Given the description of an element on the screen output the (x, y) to click on. 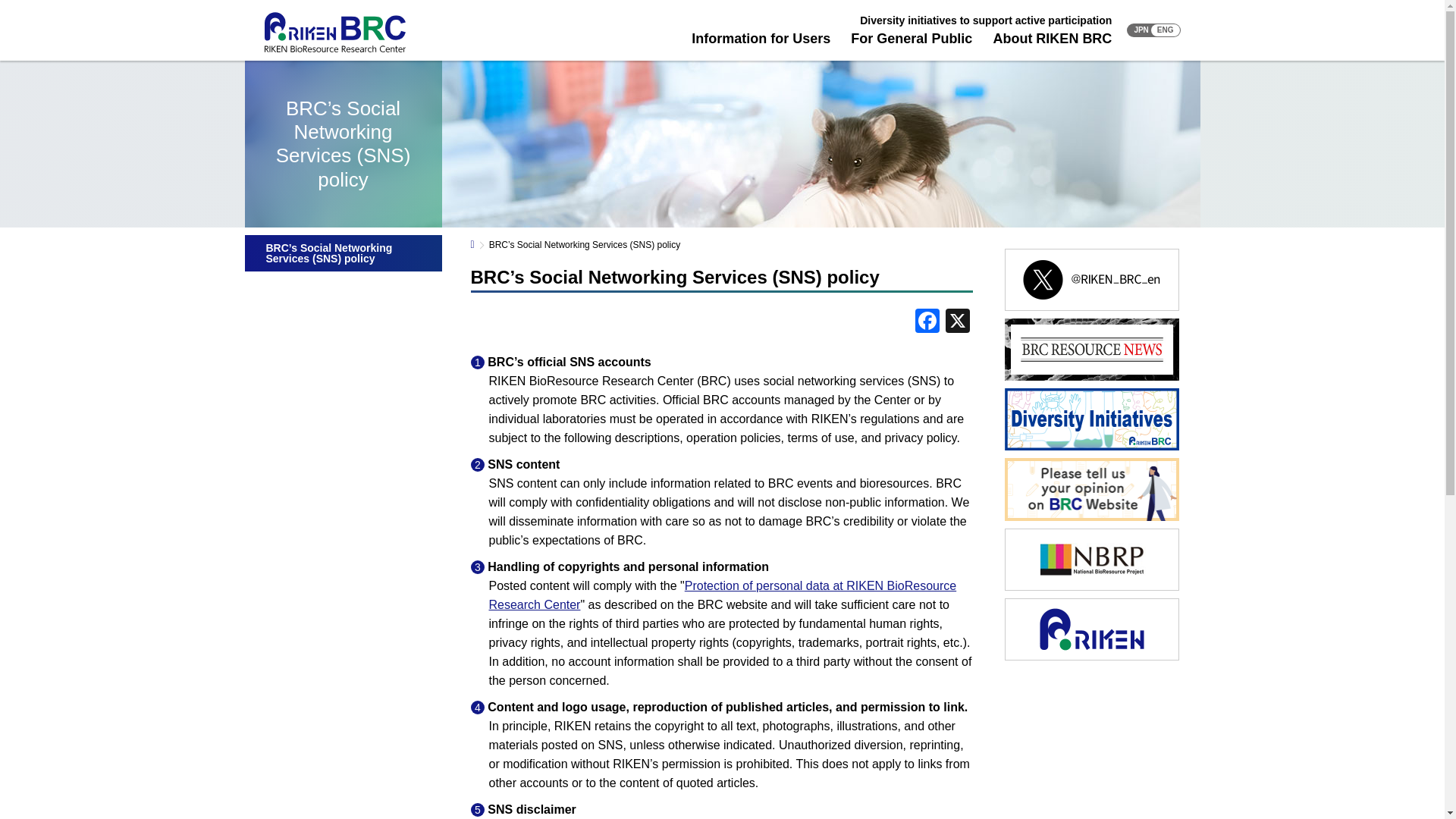
Skip to main content (77, 37)
RIKEN BRC RIKEN BioResource Resource Center (333, 32)
Information for Users (760, 38)
For General Public (911, 38)
Please tell us your opinion on BRC Website (1090, 518)
BRC Diversity Initiatives (1090, 447)
BRC RESOURCE NEWS (1090, 377)
NBRP (1090, 587)
About RIKEN BRC (1052, 38)
X (957, 322)
